Given the description of an element on the screen output the (x, y) to click on. 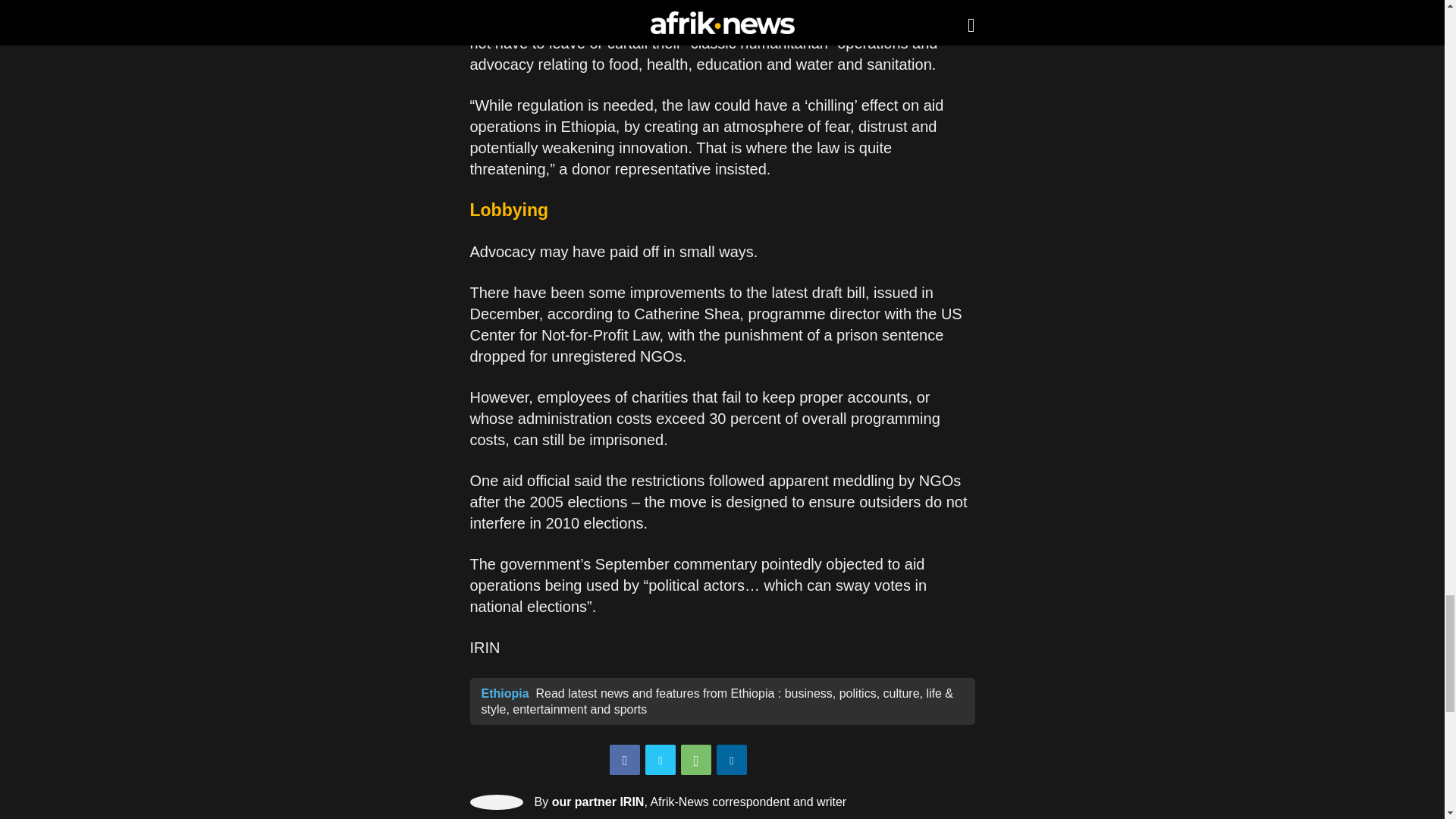
Facebook Like (794, 760)
Twitter (660, 759)
WhatsApp (696, 759)
Facebook (625, 759)
Linkedin (731, 759)
